Given the description of an element on the screen output the (x, y) to click on. 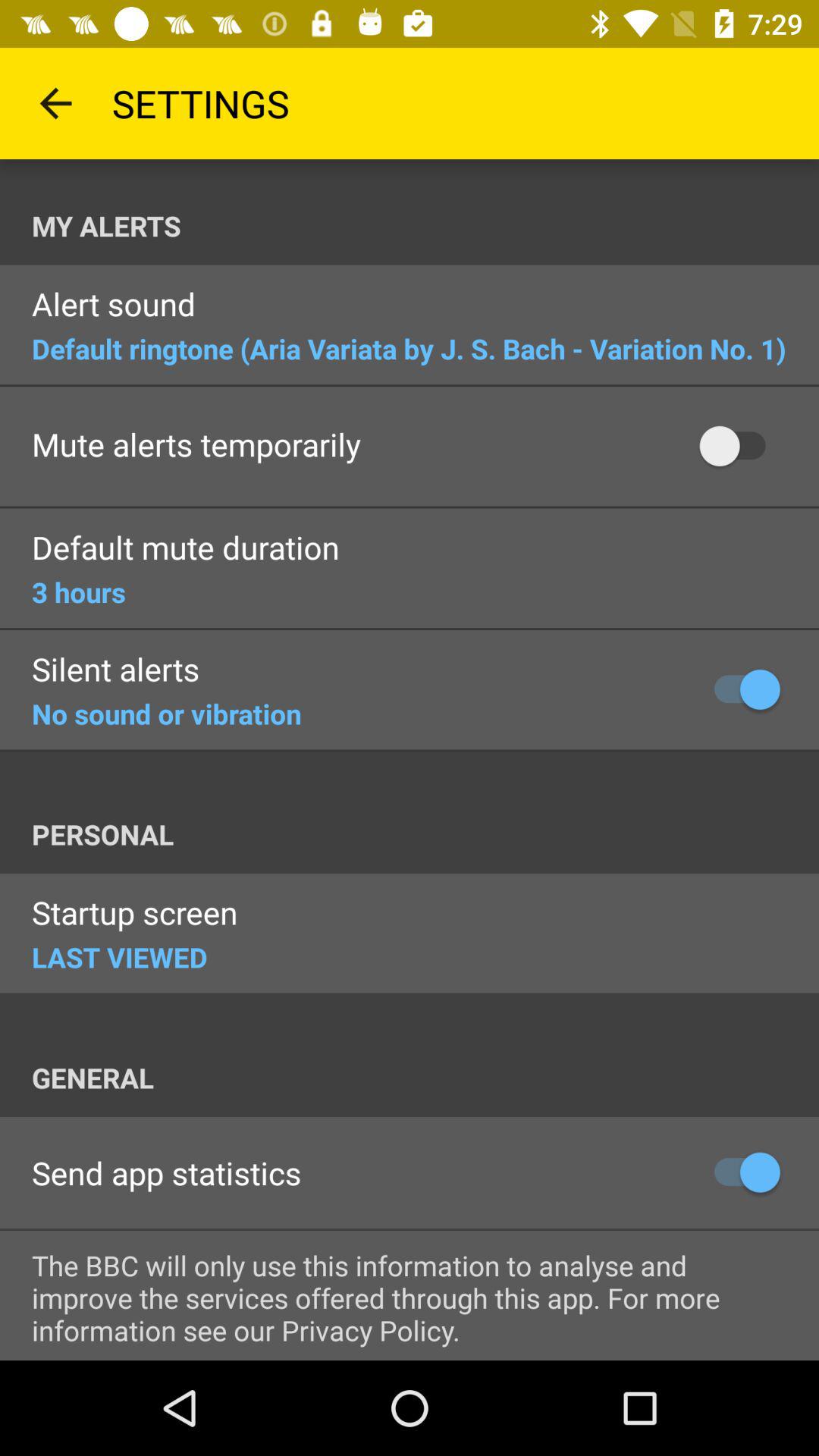
swipe to default ringtone aria icon (408, 348)
